Given the description of an element on the screen output the (x, y) to click on. 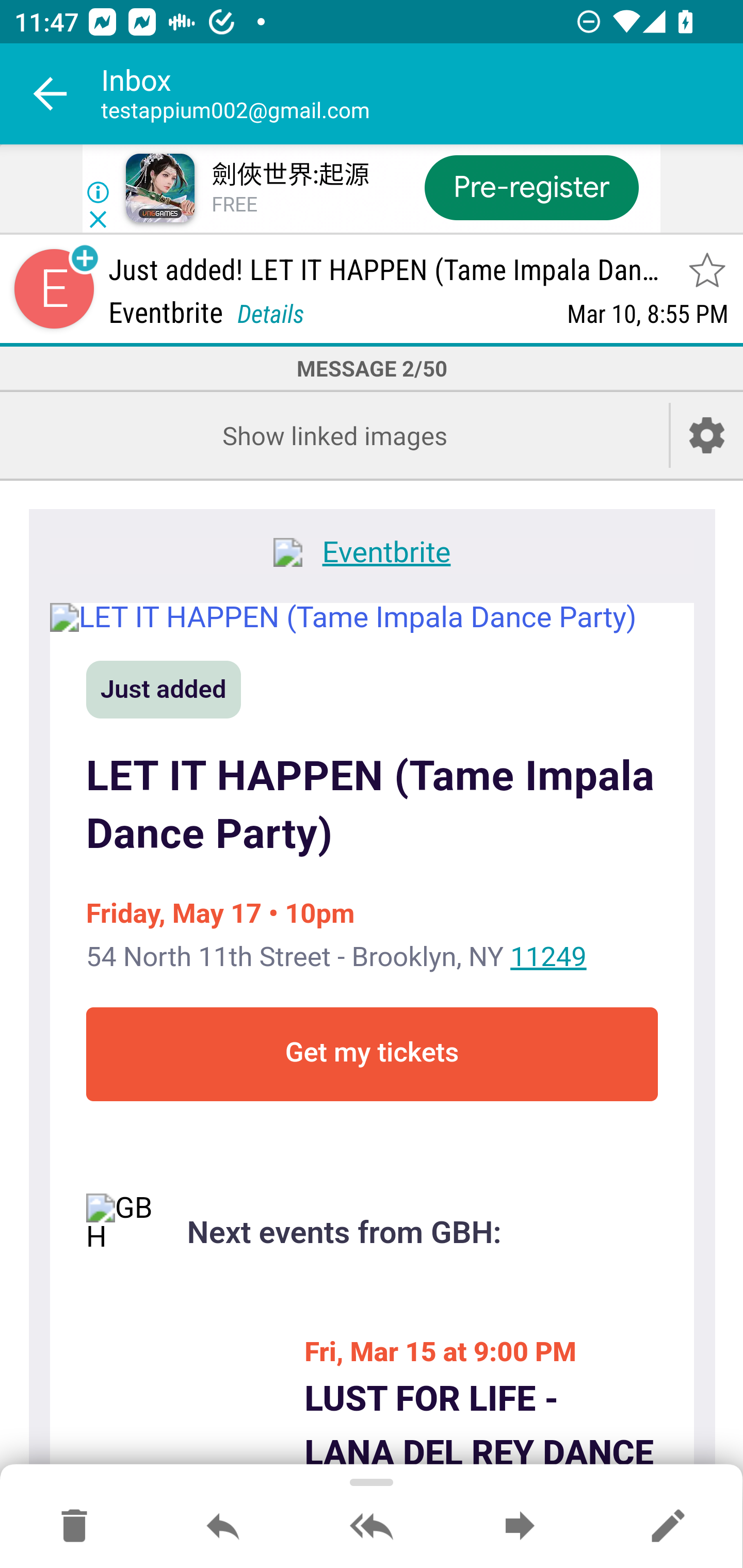
Navigate up (50, 93)
Inbox testappium002@gmail.com (422, 93)
Pre-register (530, 187)
劍俠世界:起源 (289, 175)
FREE (234, 204)
Sender contact button (53, 289)
Show linked images (334, 435)
Account setup (706, 435)
Eventbrite (371, 554)
LET IT HAPPEN (Tame Impala Dance Party) (371, 616)
LET IT HAPPEN (Tame Impala Dance Party) (371, 805)
11249 (547, 956)
Get my tickets (371, 1054)
Move to Deleted (74, 1527)
Reply (222, 1527)
Reply all (371, 1527)
Forward (519, 1527)
Reply as new (667, 1527)
